Given the description of an element on the screen output the (x, y) to click on. 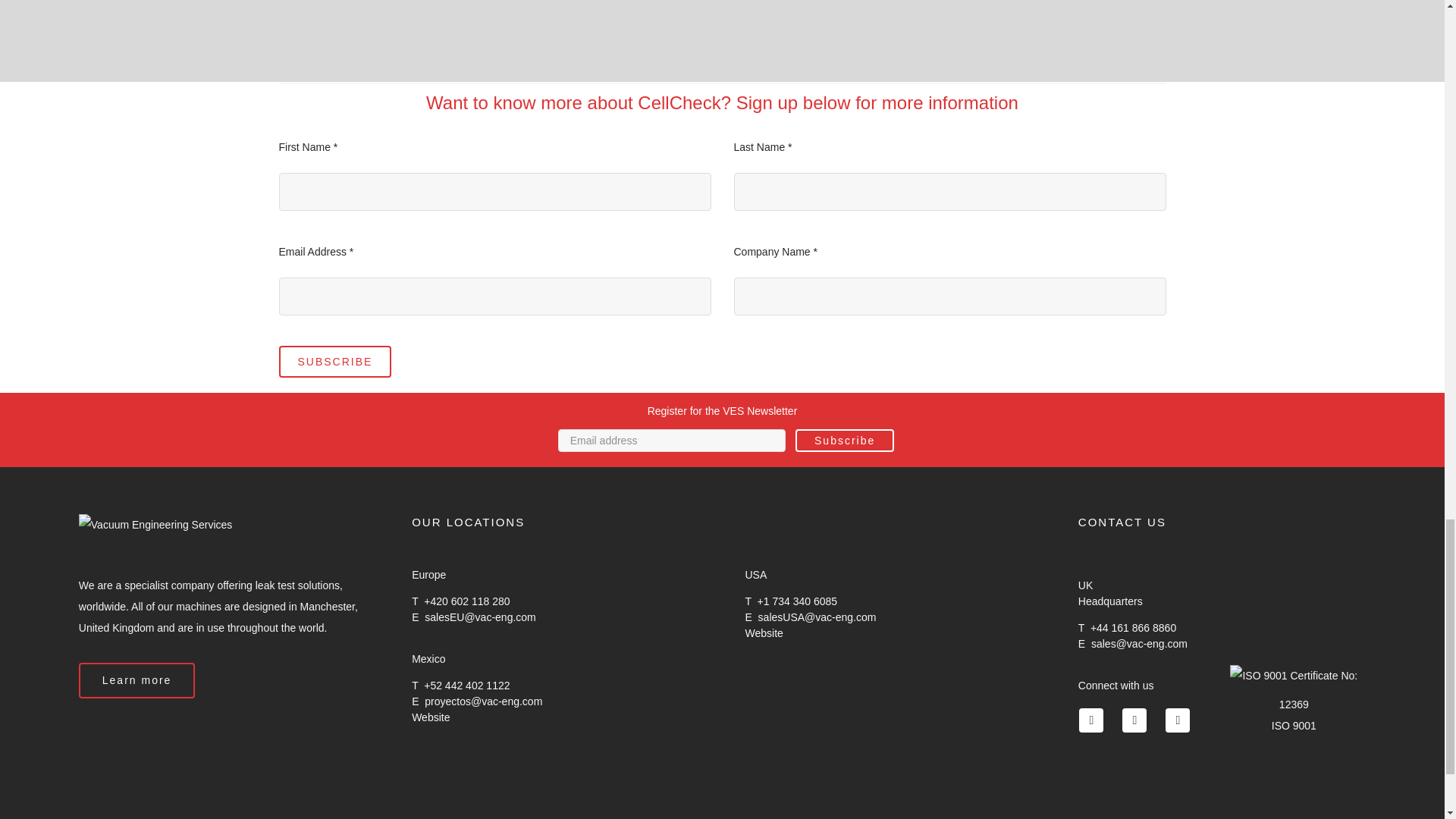
Twitter (1090, 720)
YouTube (1134, 720)
Subscribe (843, 440)
LinkedIn (1177, 720)
SUBSCRIBE (335, 361)
